Given the description of an element on the screen output the (x, y) to click on. 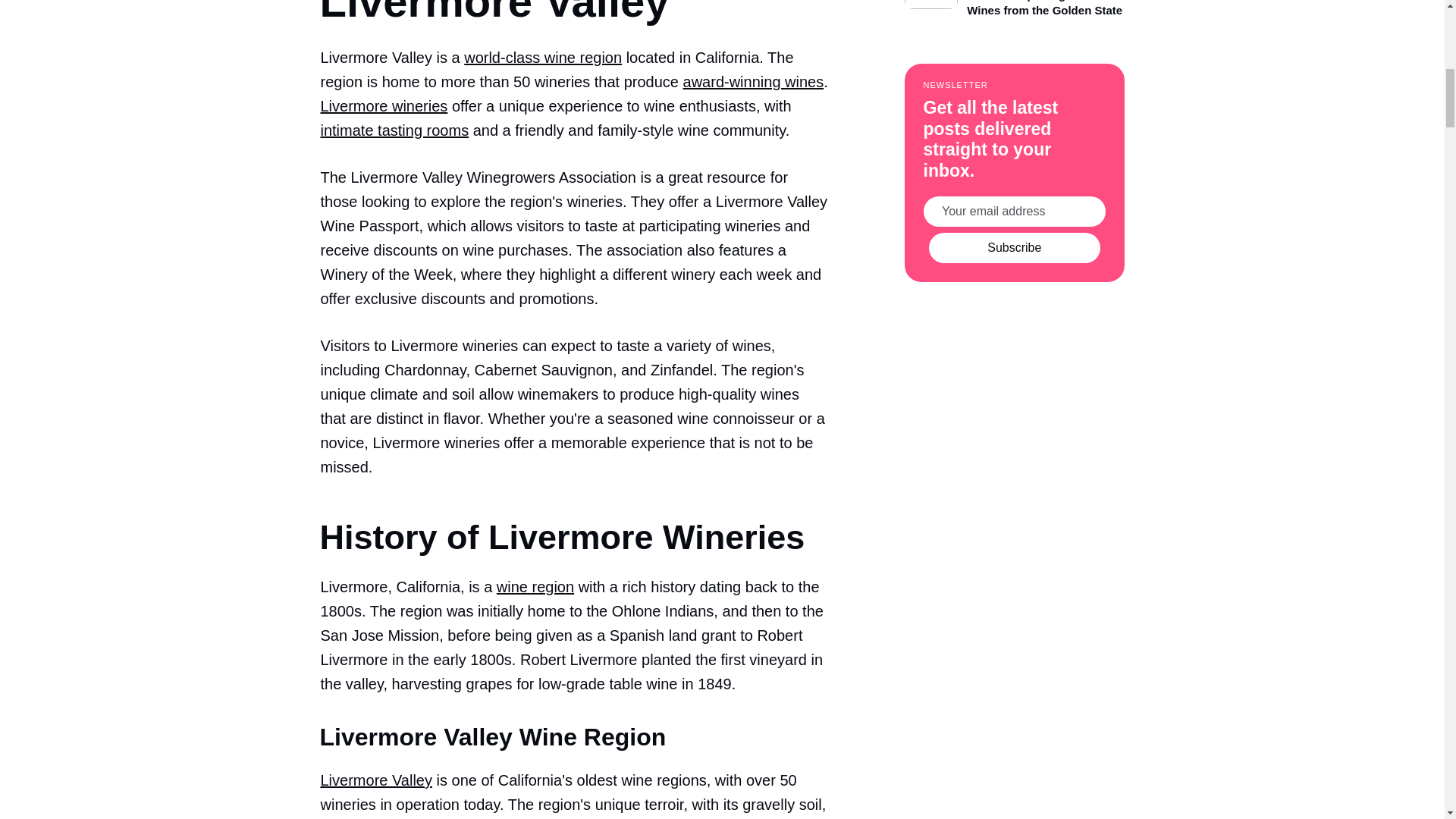
Livermore wineries (383, 105)
Livermore Valley (375, 780)
intimate tasting rooms (394, 130)
Subscribe (1014, 247)
wine region (534, 586)
award-winning wines (753, 81)
world-class wine region (542, 57)
